Given the description of an element on the screen output the (x, y) to click on. 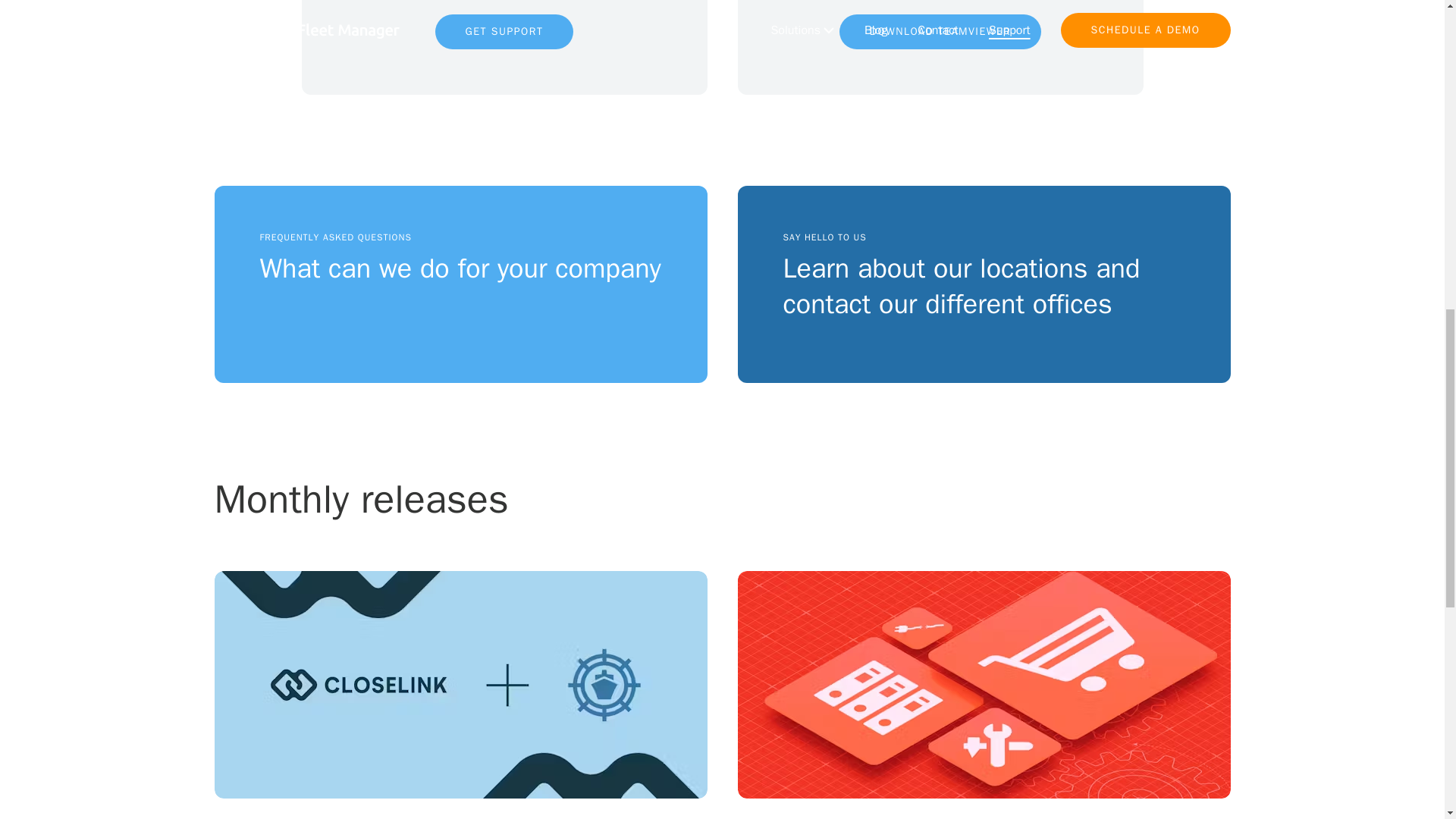
GET SUPPORT (460, 284)
CFM Updates - December 2023 (504, 31)
CFM Updates - December 2023 (983, 694)
DOWNLOAD TEAMVIEWER (983, 694)
CFM Updates - December 2023 (941, 31)
